Given the description of an element on the screen output the (x, y) to click on. 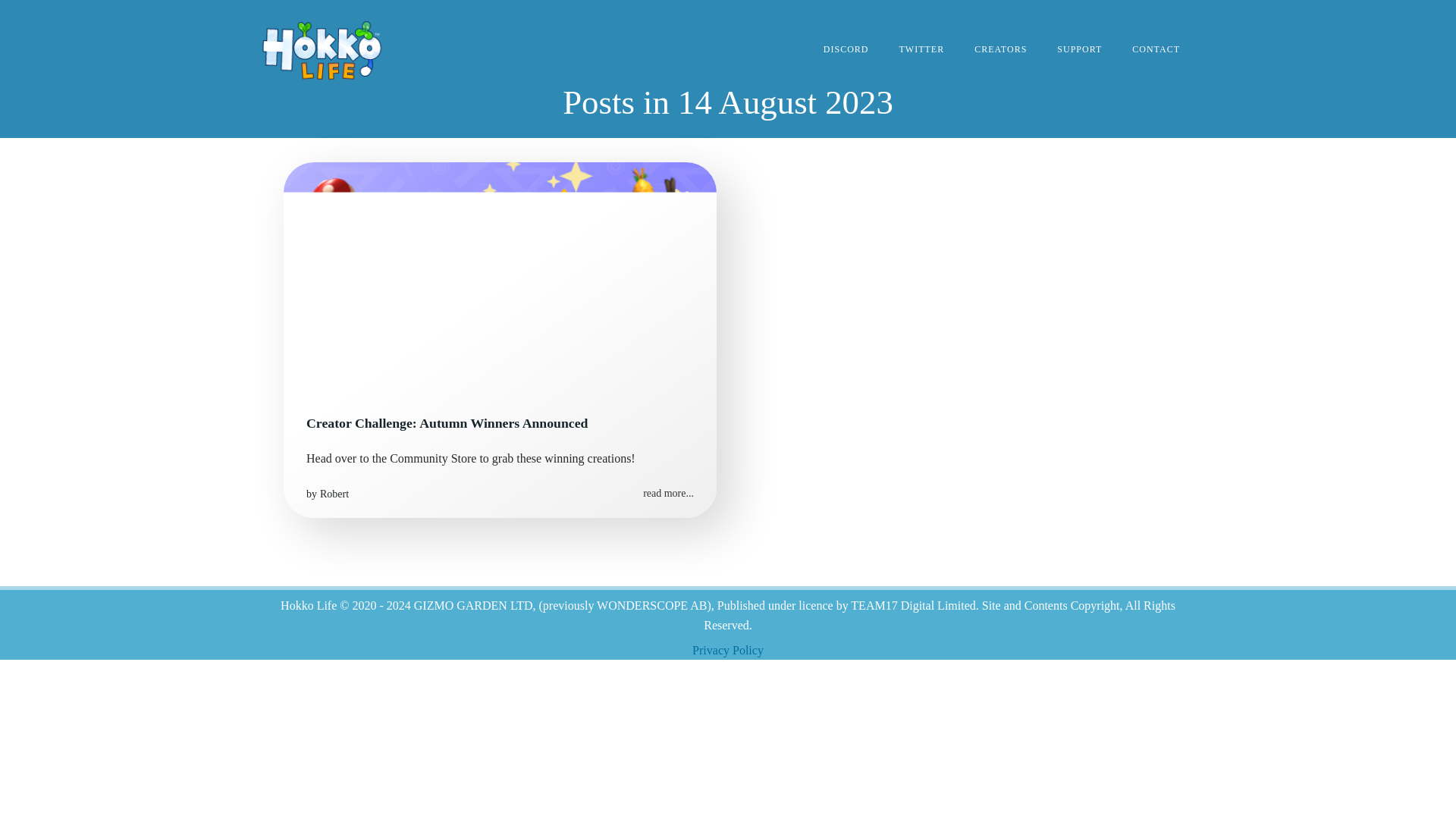
Creator Challenge: Autumn Winners Announced (499, 273)
TWITTER (921, 49)
read more... (668, 493)
Robert (334, 493)
DISCORD (846, 49)
Creator Challenge: Autumn Winners Announced (499, 423)
SUPPORT (1079, 49)
CREATORS (1000, 49)
CONTACT (1155, 49)
